Given the description of an element on the screen output the (x, y) to click on. 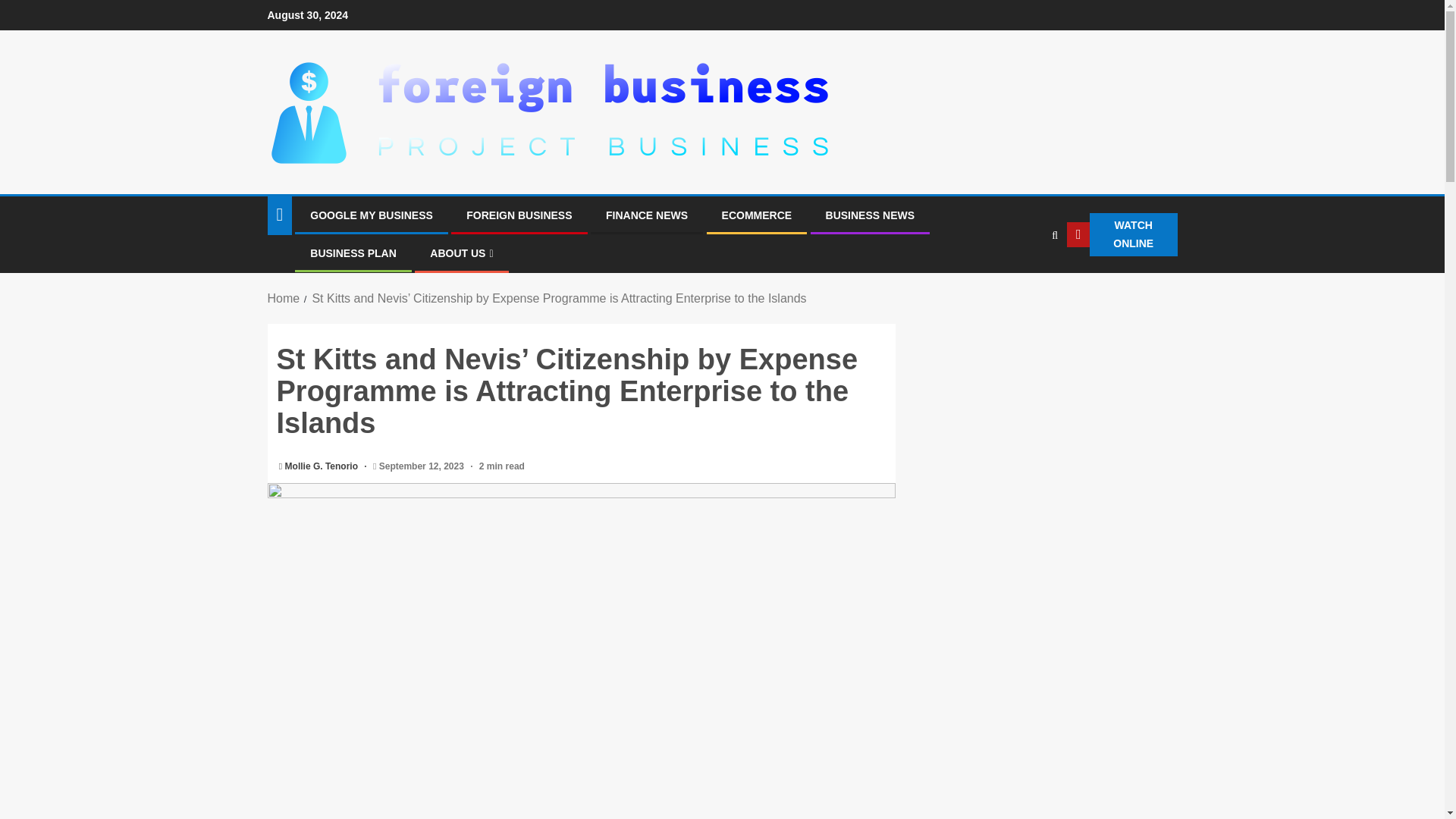
Mollie G. Tenorio (323, 466)
Home (282, 297)
ABOUT US (461, 253)
ECOMMERCE (757, 215)
Search (1023, 280)
FINANCE NEWS (646, 215)
BUSINESS NEWS (869, 215)
WATCH ONLINE (1121, 234)
GOOGLE MY BUSINESS (371, 215)
BUSINESS PLAN (353, 253)
